Given the description of an element on the screen output the (x, y) to click on. 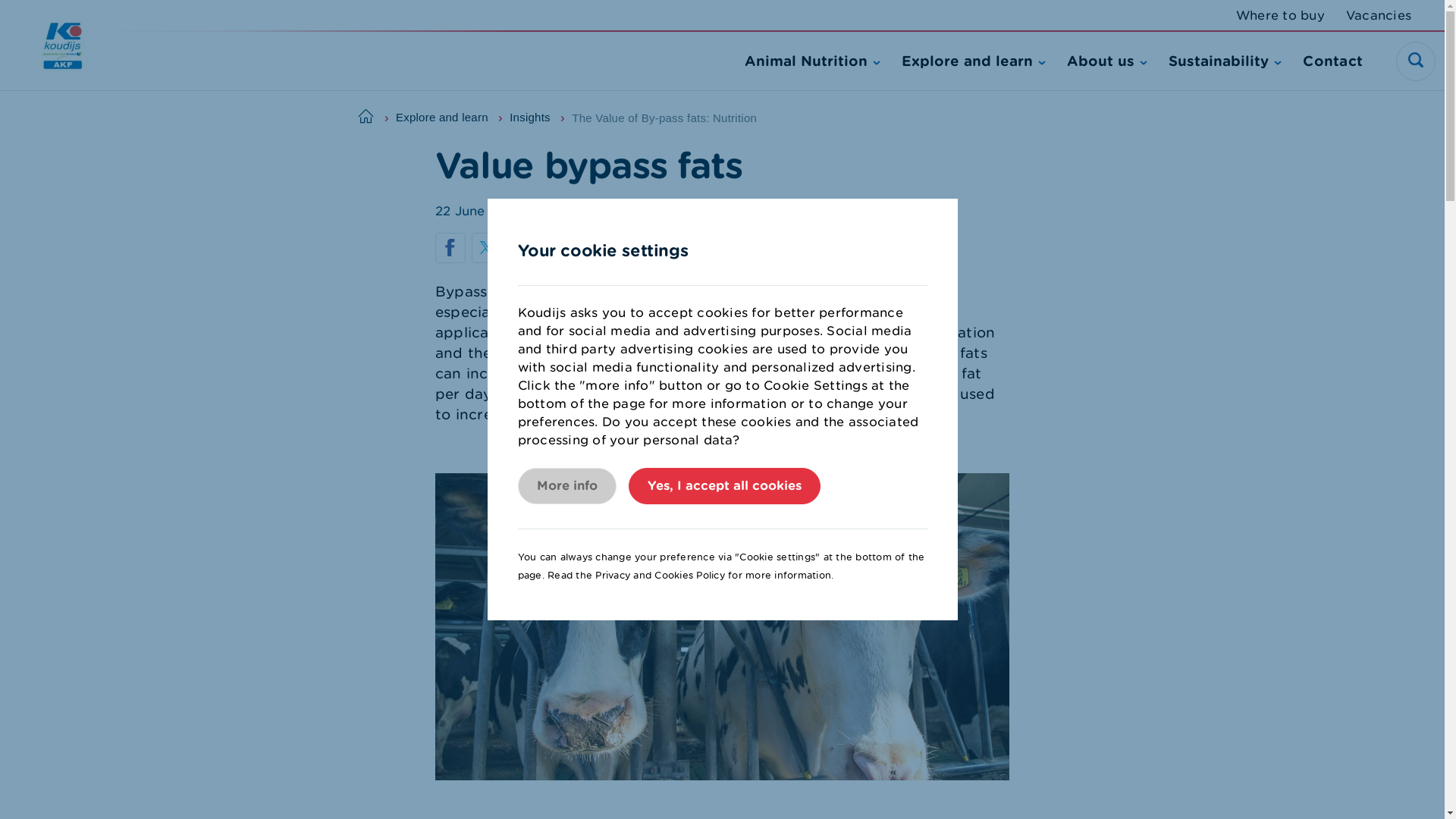
About us (1107, 60)
Contact (1332, 60)
Vacancies (1377, 15)
Sustainability (1225, 60)
Explore and learn (973, 60)
Where to buy (1280, 15)
Animal Nutrition (812, 60)
